Given the description of an element on the screen output the (x, y) to click on. 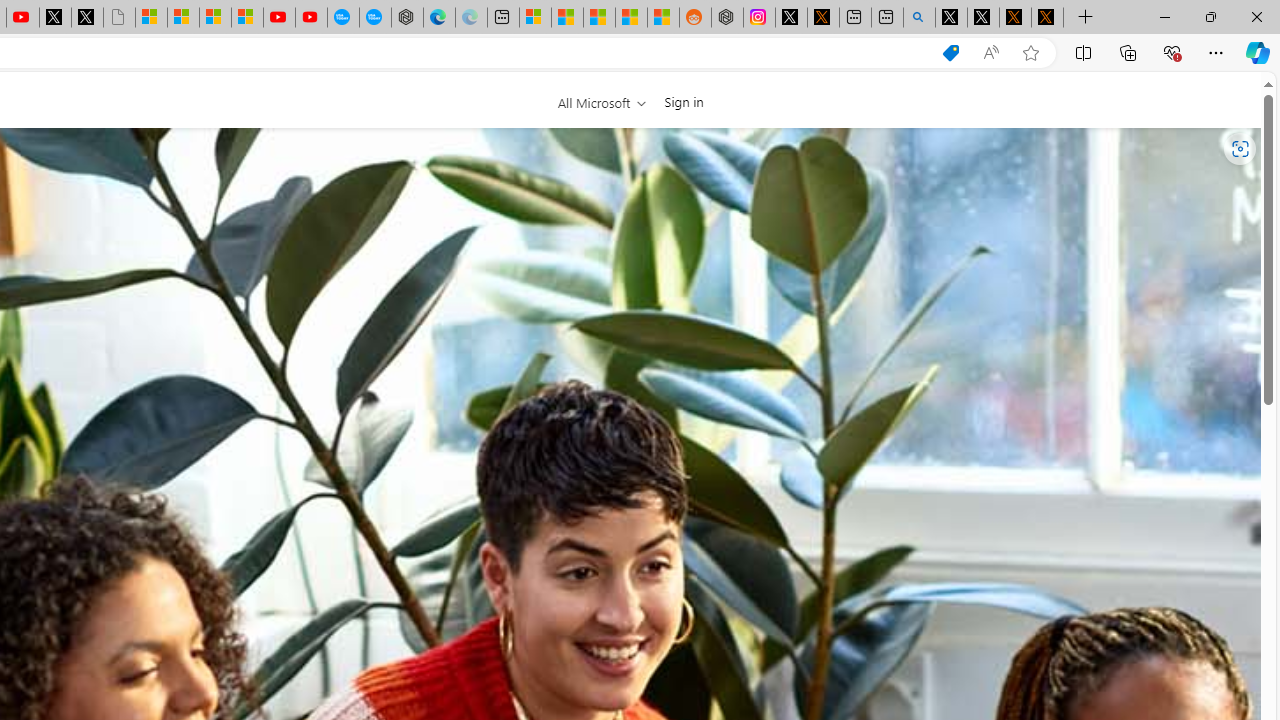
Microsoft account | Microsoft Account Privacy Settings (535, 17)
Shanghai, China weather forecast | Microsoft Weather (566, 17)
Untitled (118, 17)
Nordace - Nordace has arrived Hong Kong (407, 17)
